Given the description of an element on the screen output the (x, y) to click on. 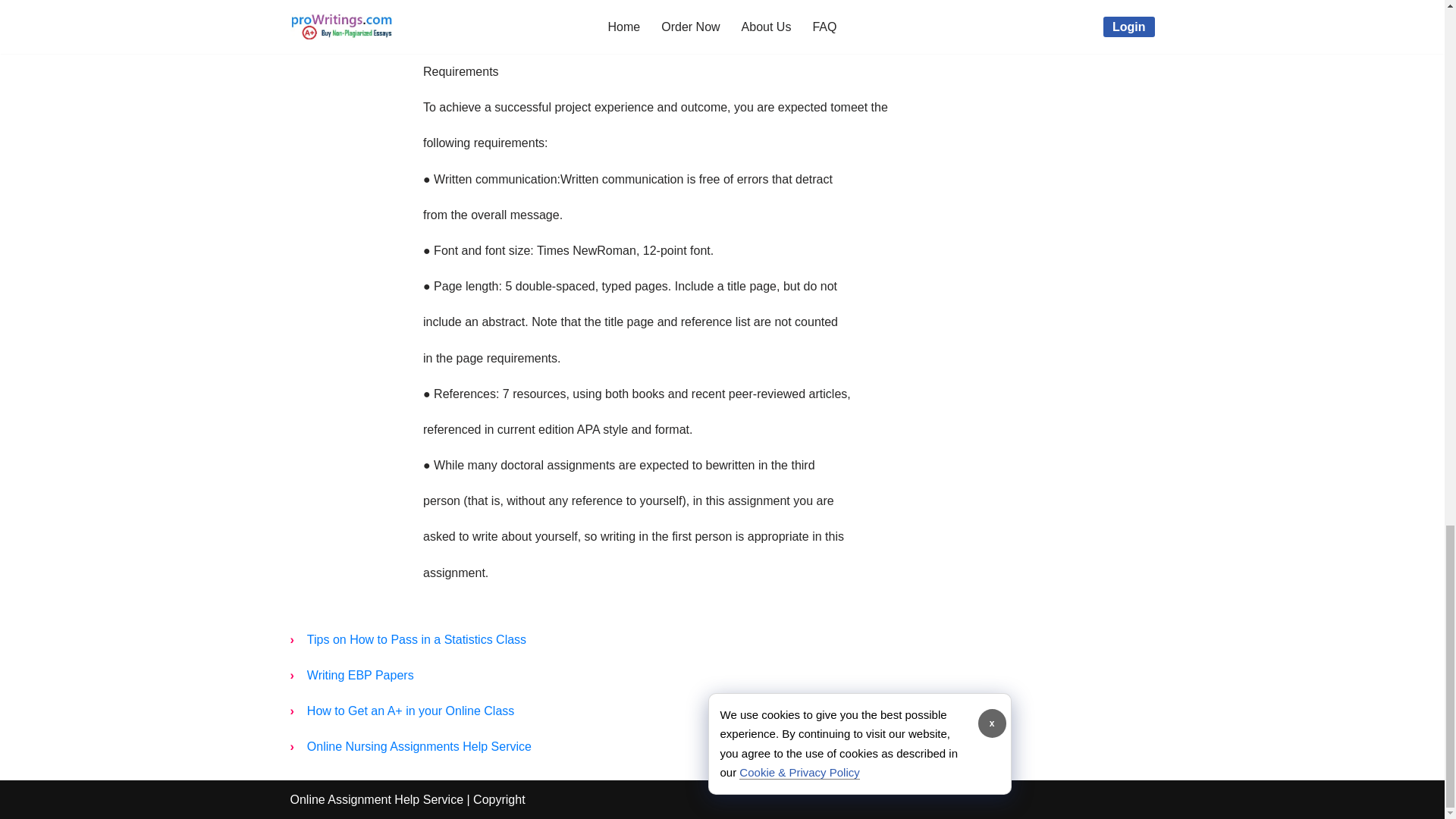
Online Assignment Help Service (376, 799)
Online Nursing Assignments Help Service (418, 746)
Writing EBP Papers (360, 674)
Tips on How to Pass in a Statistics Class (416, 639)
